Given the description of an element on the screen output the (x, y) to click on. 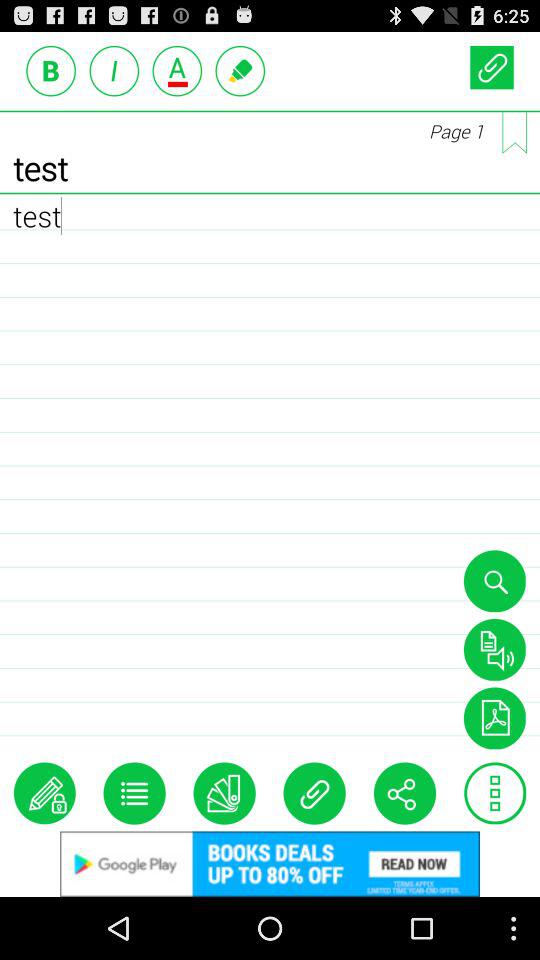
click text option (177, 70)
